Given the description of an element on the screen output the (x, y) to click on. 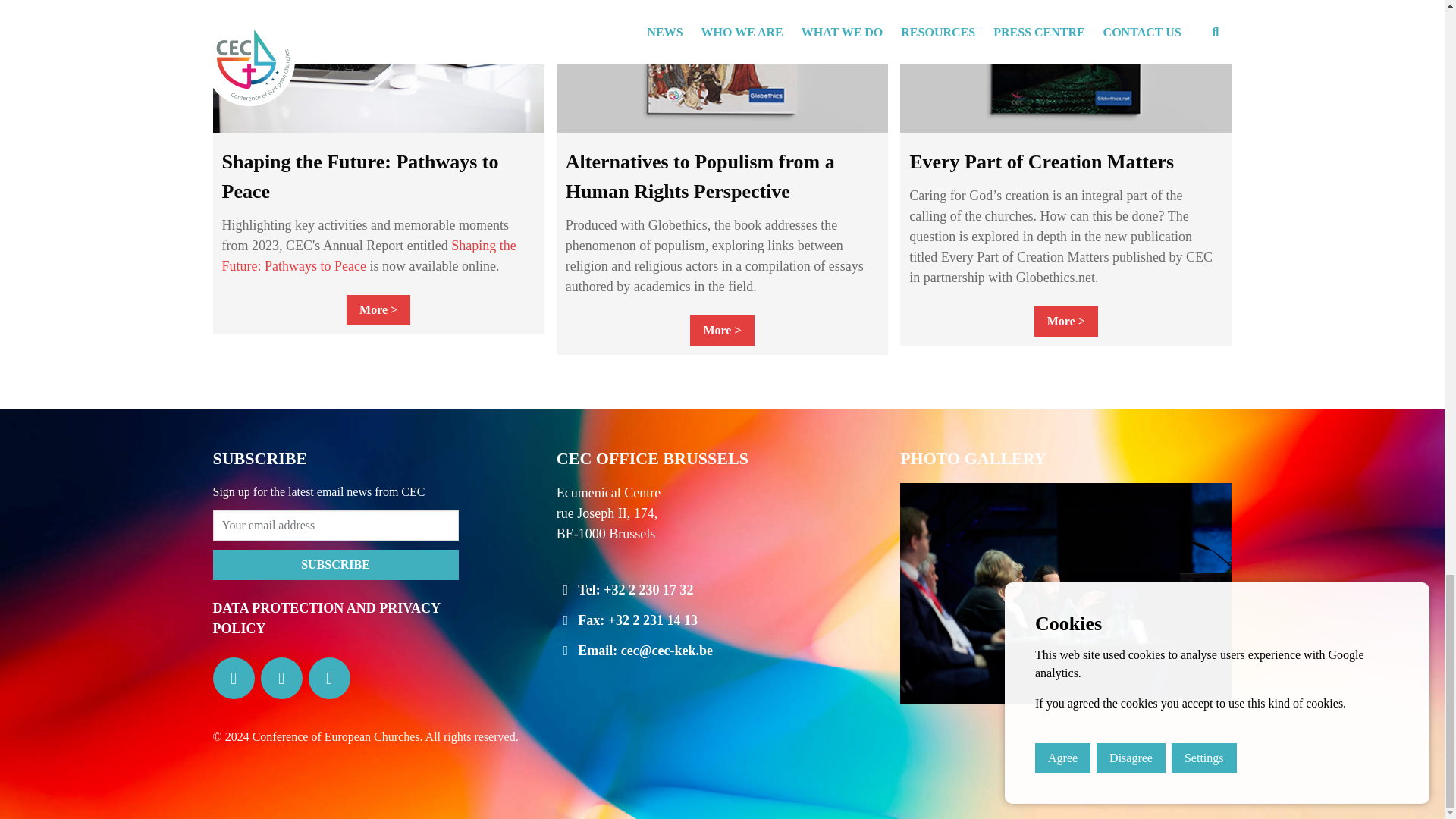
SUBSCRIBE (335, 564)
DATA PROTECTION AND PRIVACY POLICY (325, 618)
Shaping the Future: Pathways to Peace (368, 255)
